Given the description of an element on the screen output the (x, y) to click on. 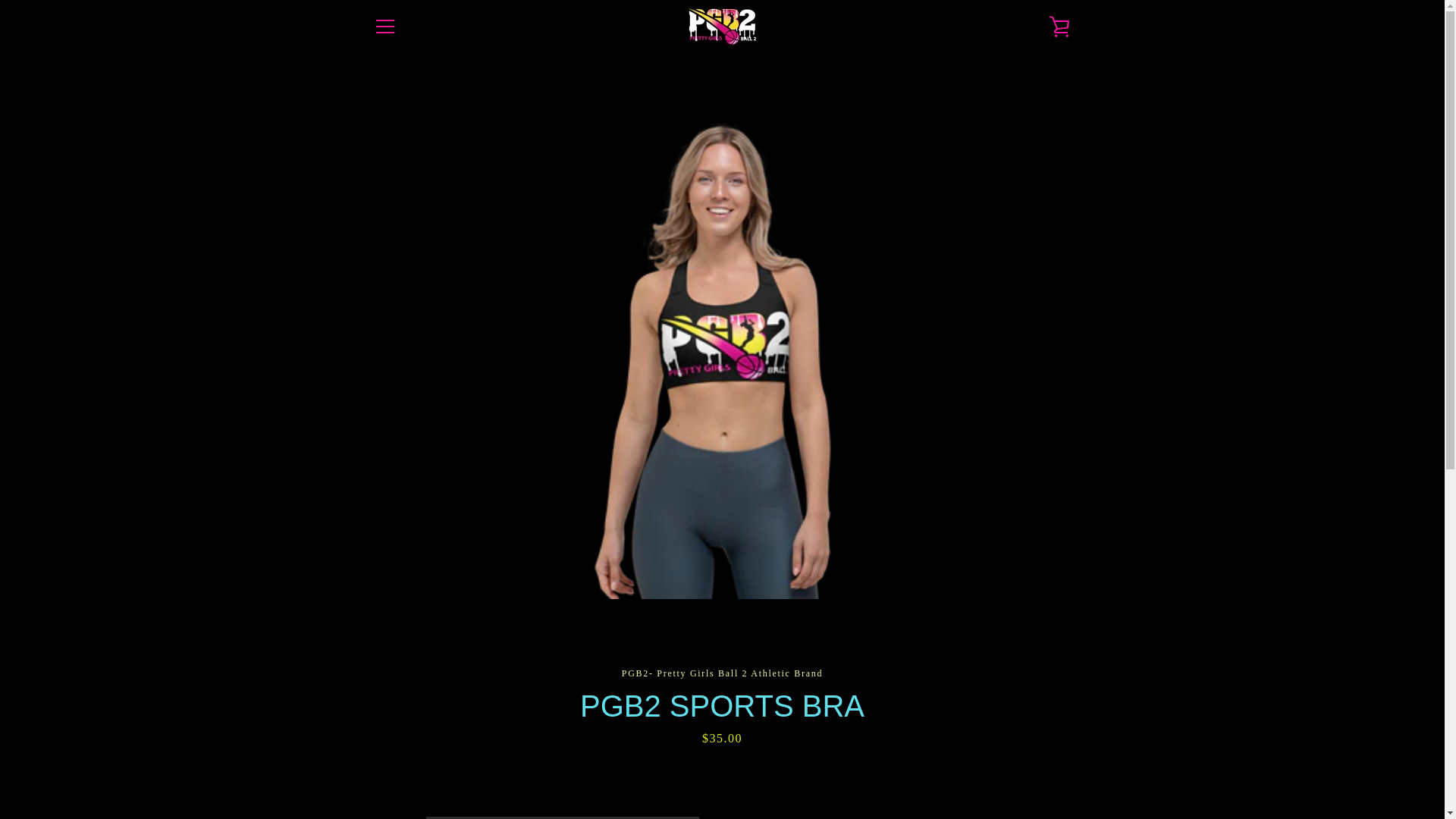
Instagram (398, 765)
Diners Club (953, 755)
Discover (988, 755)
Visa (1057, 778)
CONTACT US (405, 632)
PGB2- Pretty Girls Ball 2 Athletic Brand (747, 766)
Mastercard (918, 778)
PGB2- Pretty Girls Ball 2 Athletic Brand on Facebook (372, 765)
PGB2- Pretty Girls Ball 2 Athletic Brand on Instagram (398, 765)
